Given the description of an element on the screen output the (x, y) to click on. 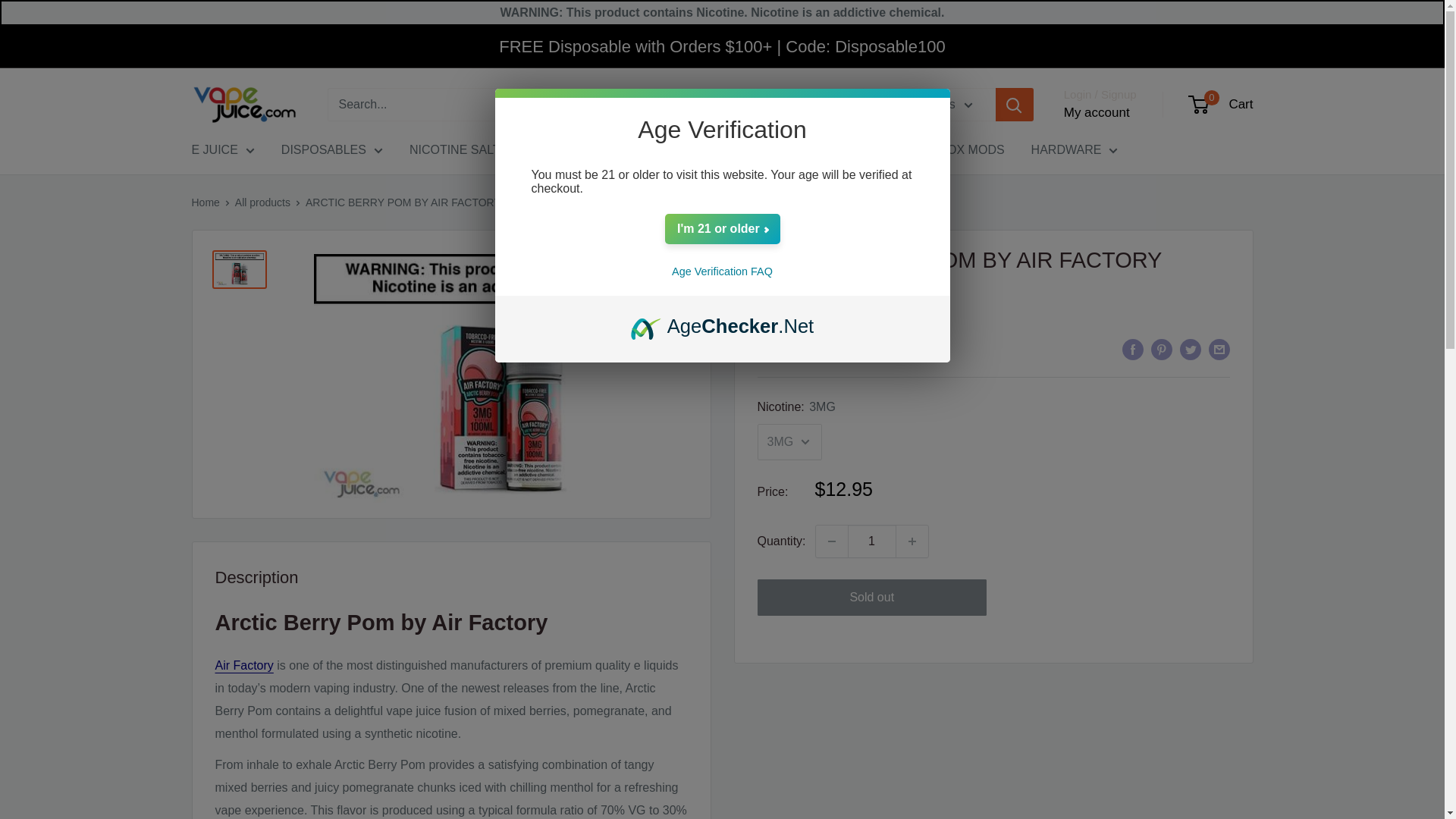
1 (871, 541)
Decrease quantity by 1 (831, 541)
Increase quantity by 1 (912, 541)
